Given the description of an element on the screen output the (x, y) to click on. 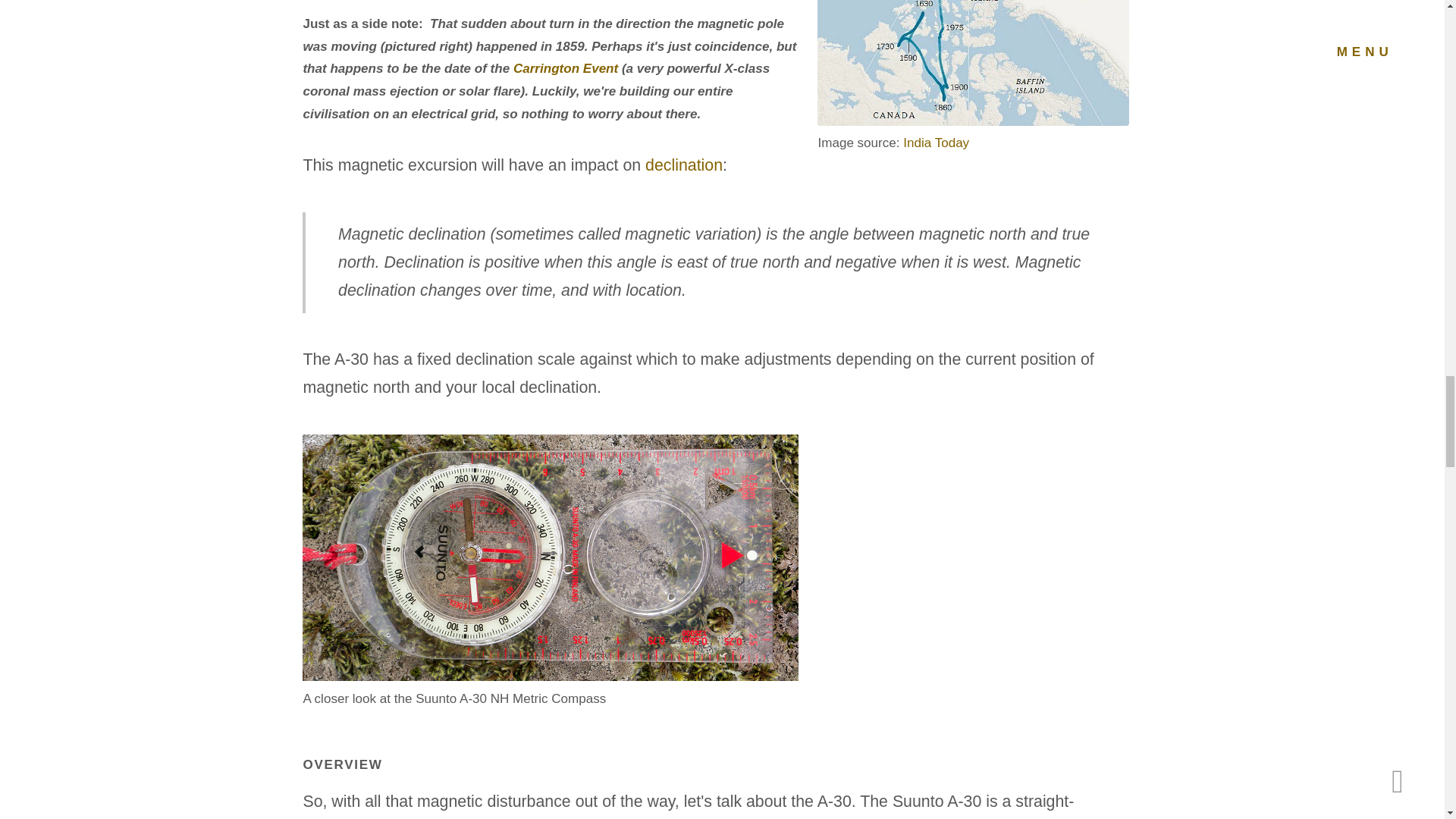
declination (683, 165)
Carrington Event (565, 68)
India Today (935, 142)
